Given the description of an element on the screen output the (x, y) to click on. 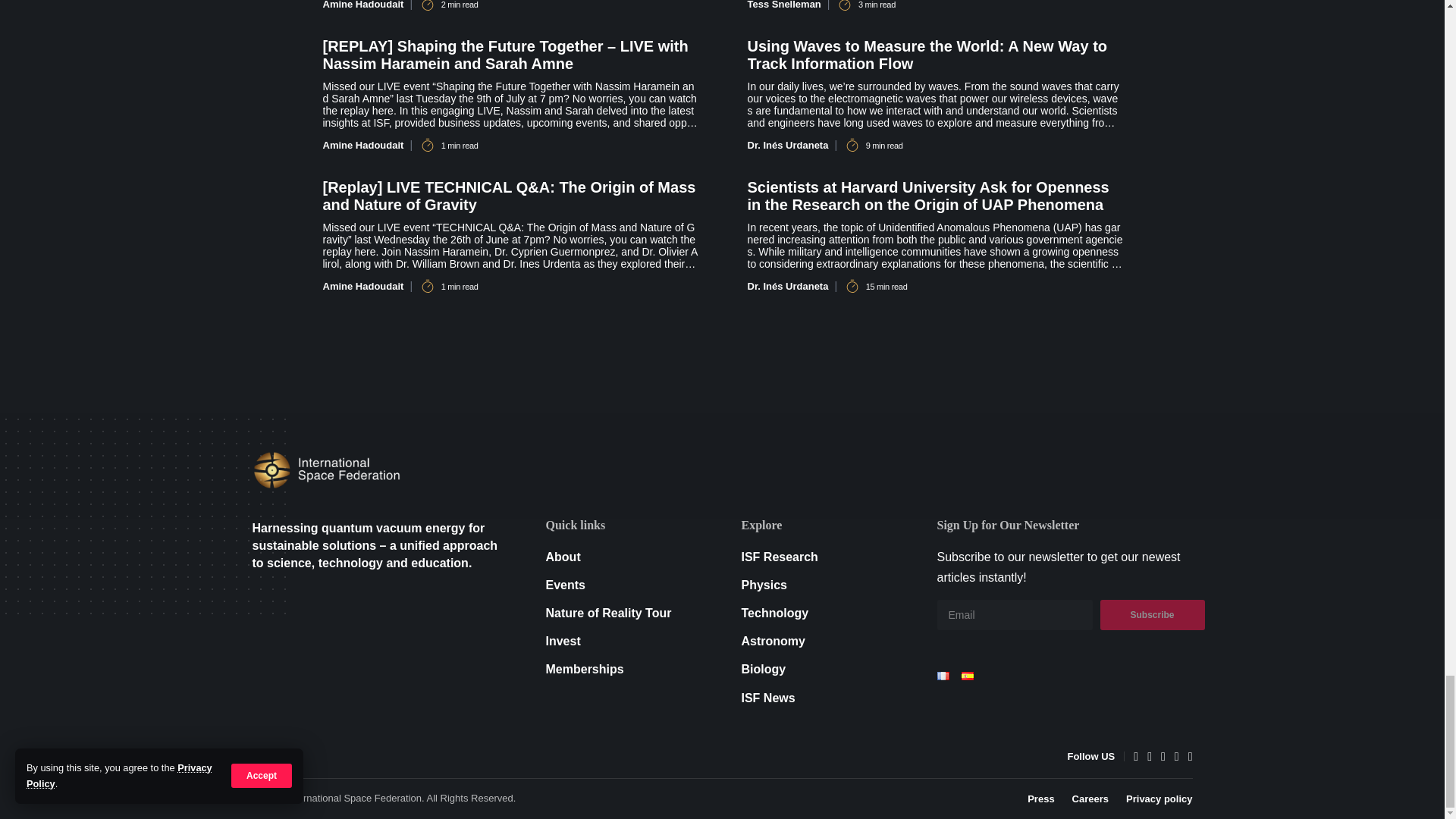
Subscribe (1151, 614)
